Given the description of an element on the screen output the (x, y) to click on. 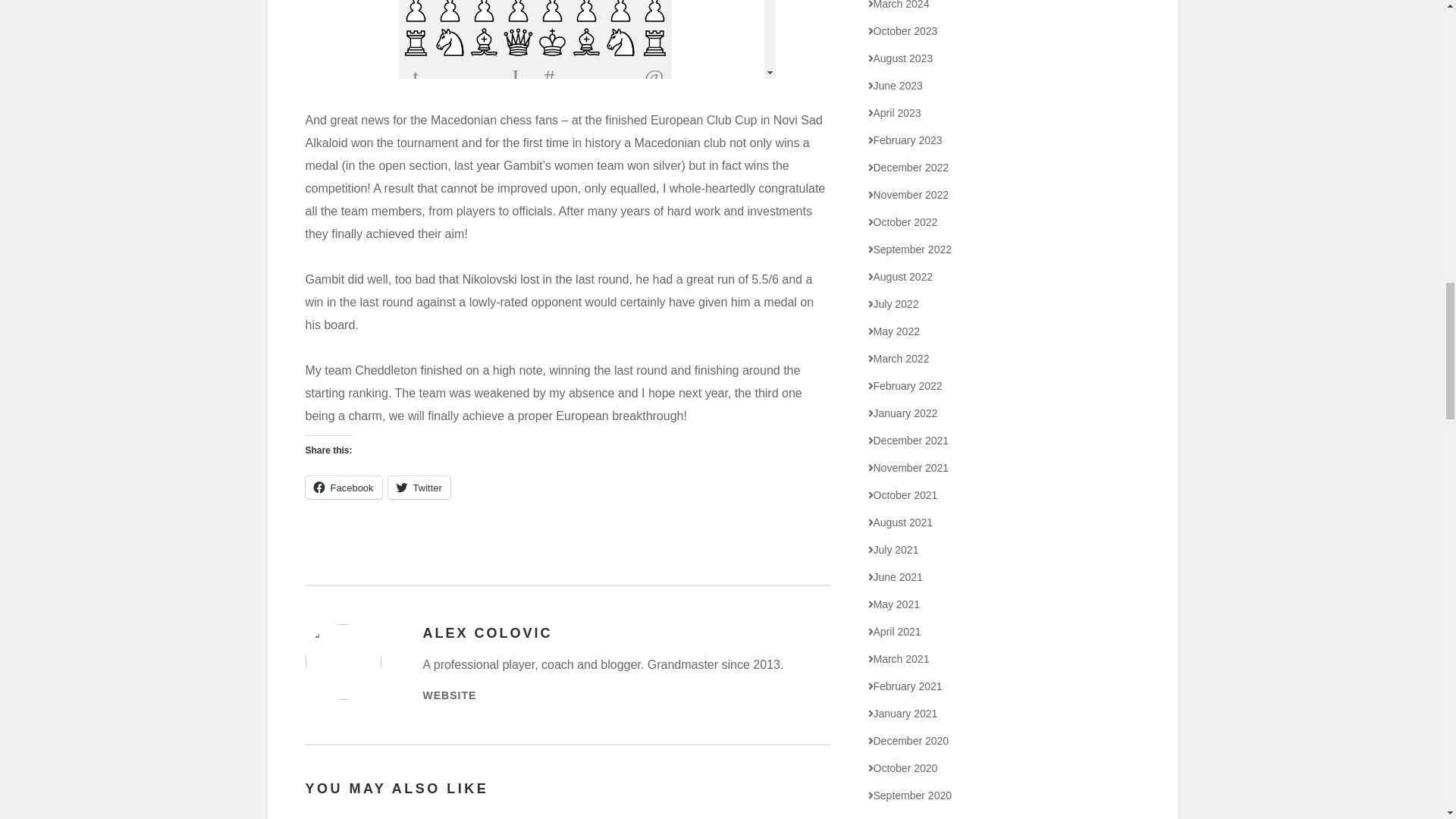
Click to share on Facebook (342, 486)
Twitter (418, 486)
Facebook (342, 486)
WEBSITE (450, 695)
Click to share on Twitter (418, 486)
